Given the description of an element on the screen output the (x, y) to click on. 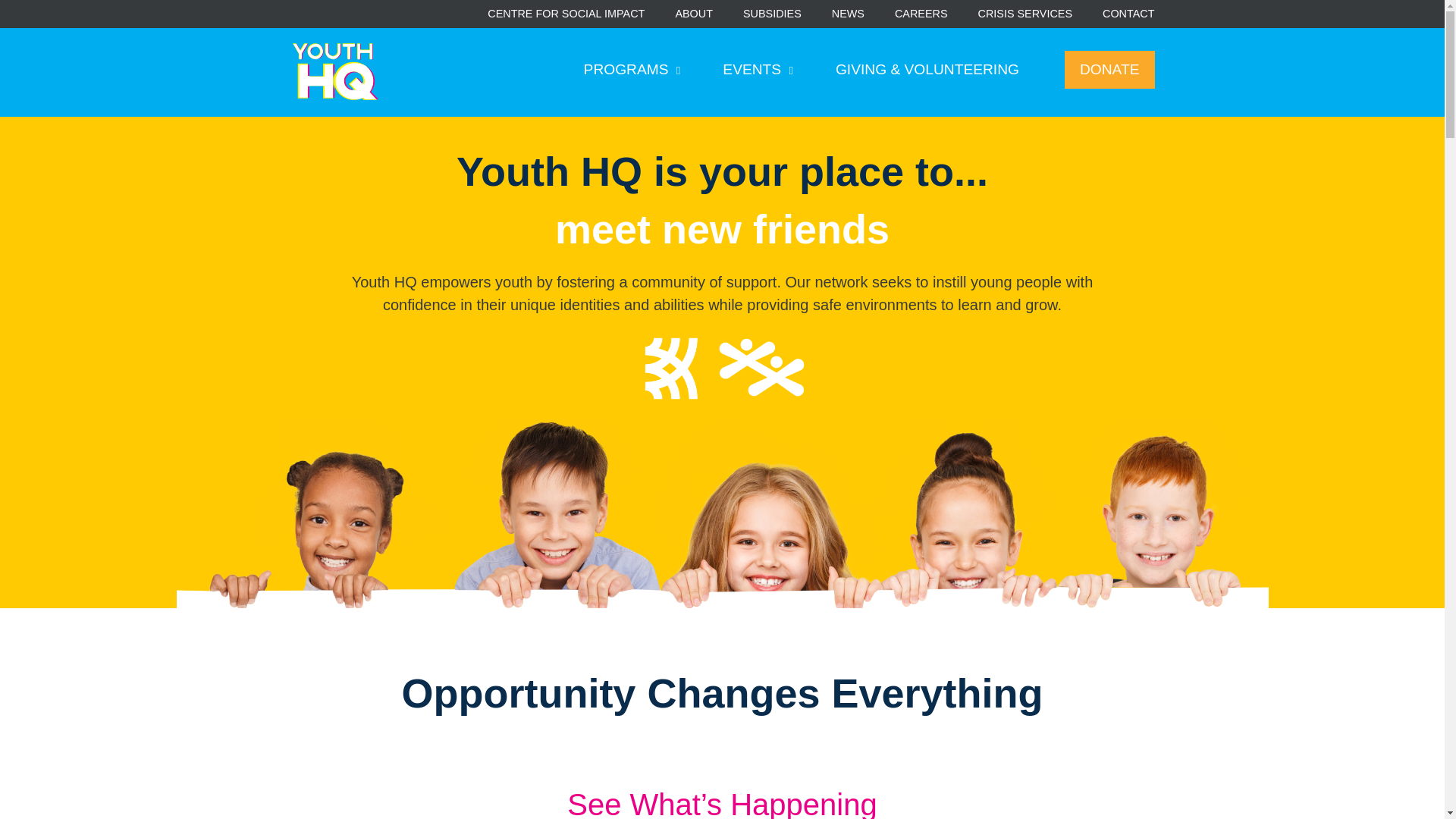
PROGRAMS (632, 69)
CENTRE FOR SOCIAL IMPACT (566, 13)
SUBSIDIES (772, 13)
CAREERS (921, 13)
NEWS (847, 13)
CRISIS SERVICES (1025, 13)
EVENTS (757, 69)
CONTACT (1128, 13)
DONATE (1109, 69)
ABOUT (694, 13)
